Given the description of an element on the screen output the (x, y) to click on. 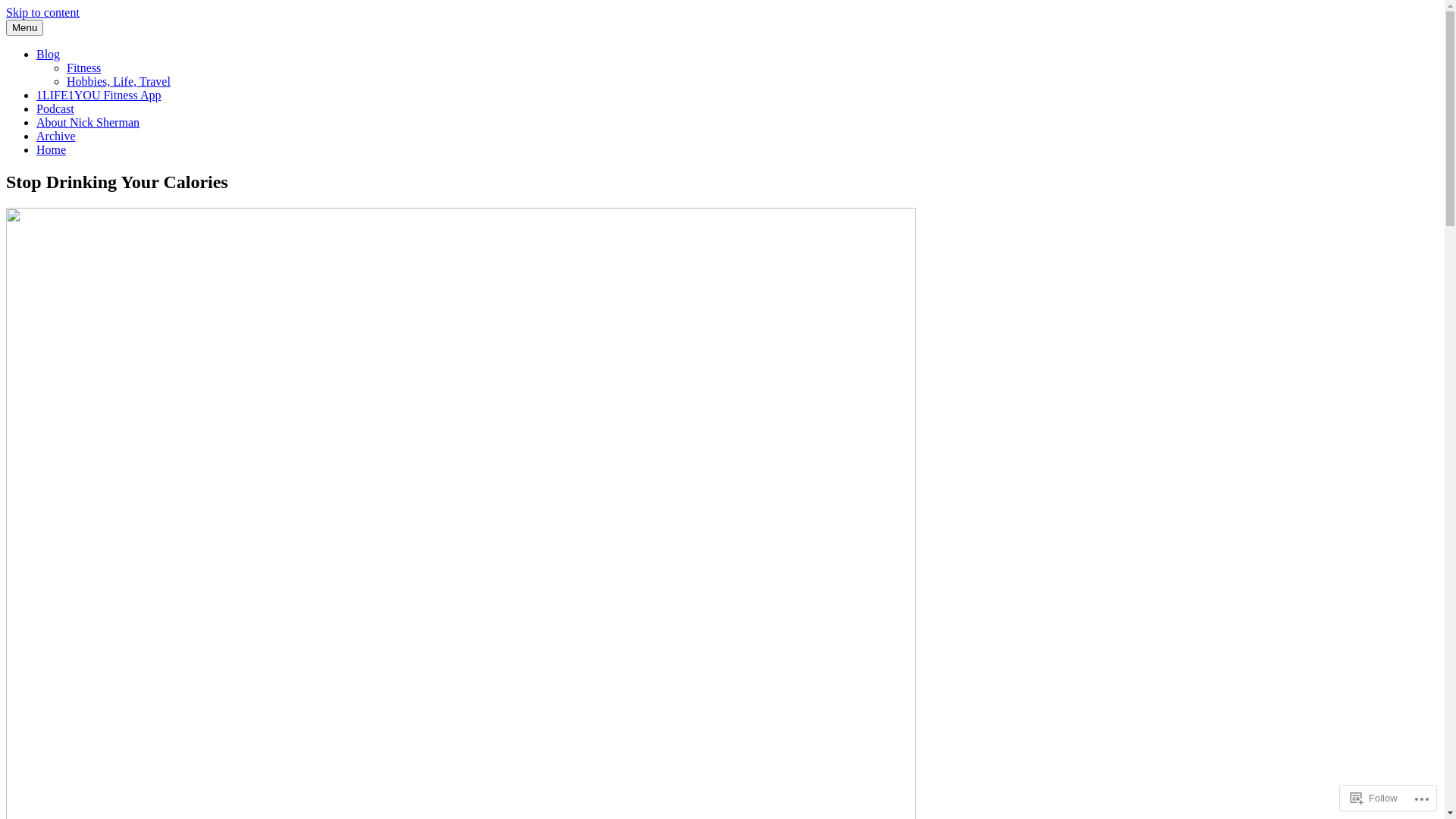
Archive Element type: text (55, 135)
Podcast Element type: text (55, 108)
Menu Element type: text (24, 27)
Home Element type: text (50, 149)
Follow Element type: text (1373, 797)
About Nick Sherman Element type: text (87, 122)
Hobbies, Life, Travel Element type: text (118, 81)
1LIFE 1YOU Element type: text (39, 37)
Skip to content Element type: text (42, 12)
Blog Element type: text (47, 53)
Fitness Element type: text (83, 67)
1LIFE1YOU Fitness App Element type: text (98, 94)
